Given the description of an element on the screen output the (x, y) to click on. 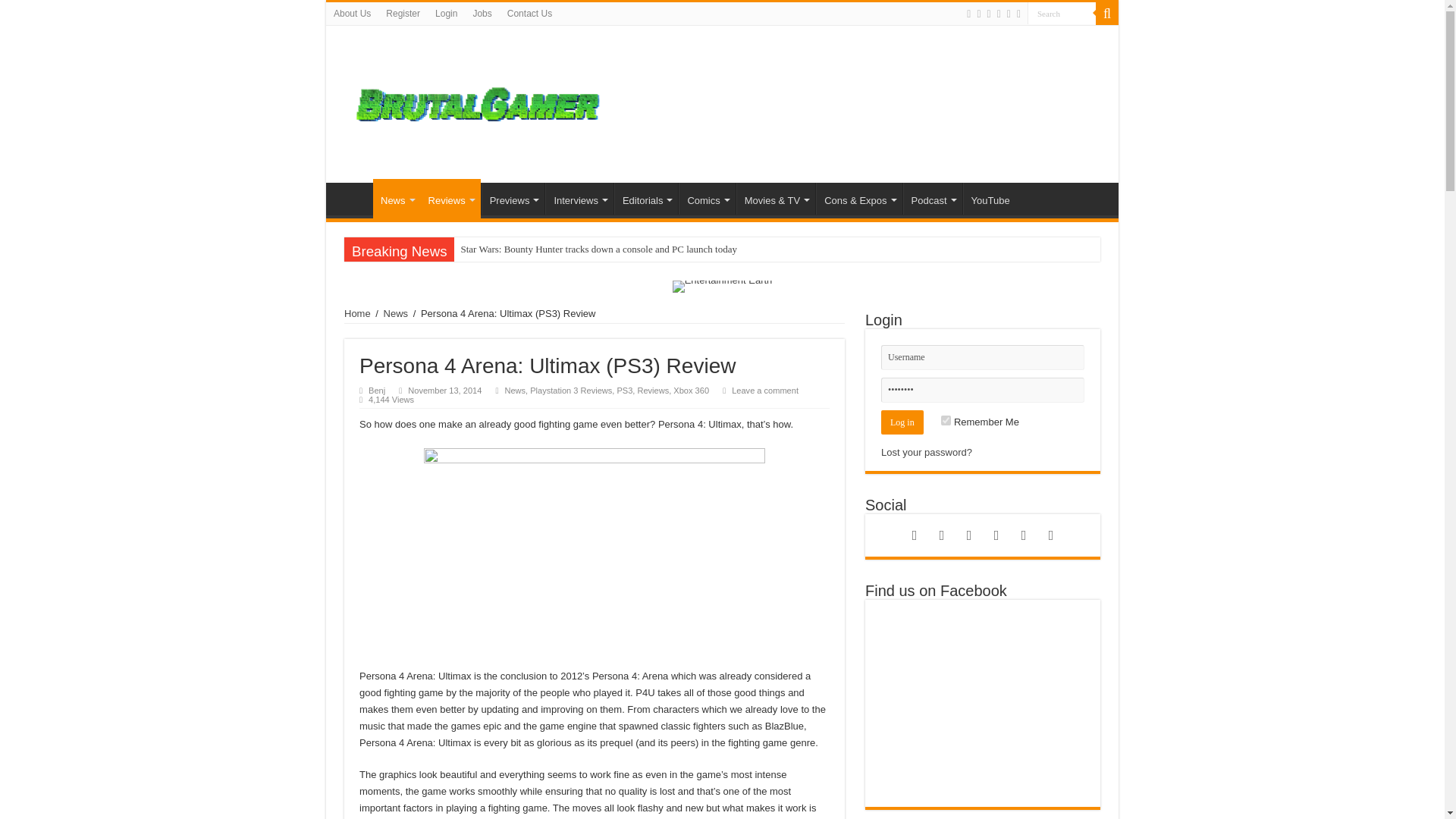
Home (352, 198)
Login (446, 13)
Search (1107, 13)
News (396, 198)
BrutalGamer (477, 101)
Contact Us (529, 13)
forever (945, 420)
Search (1061, 13)
Search (1061, 13)
Jobs (481, 13)
